Given the description of an element on the screen output the (x, y) to click on. 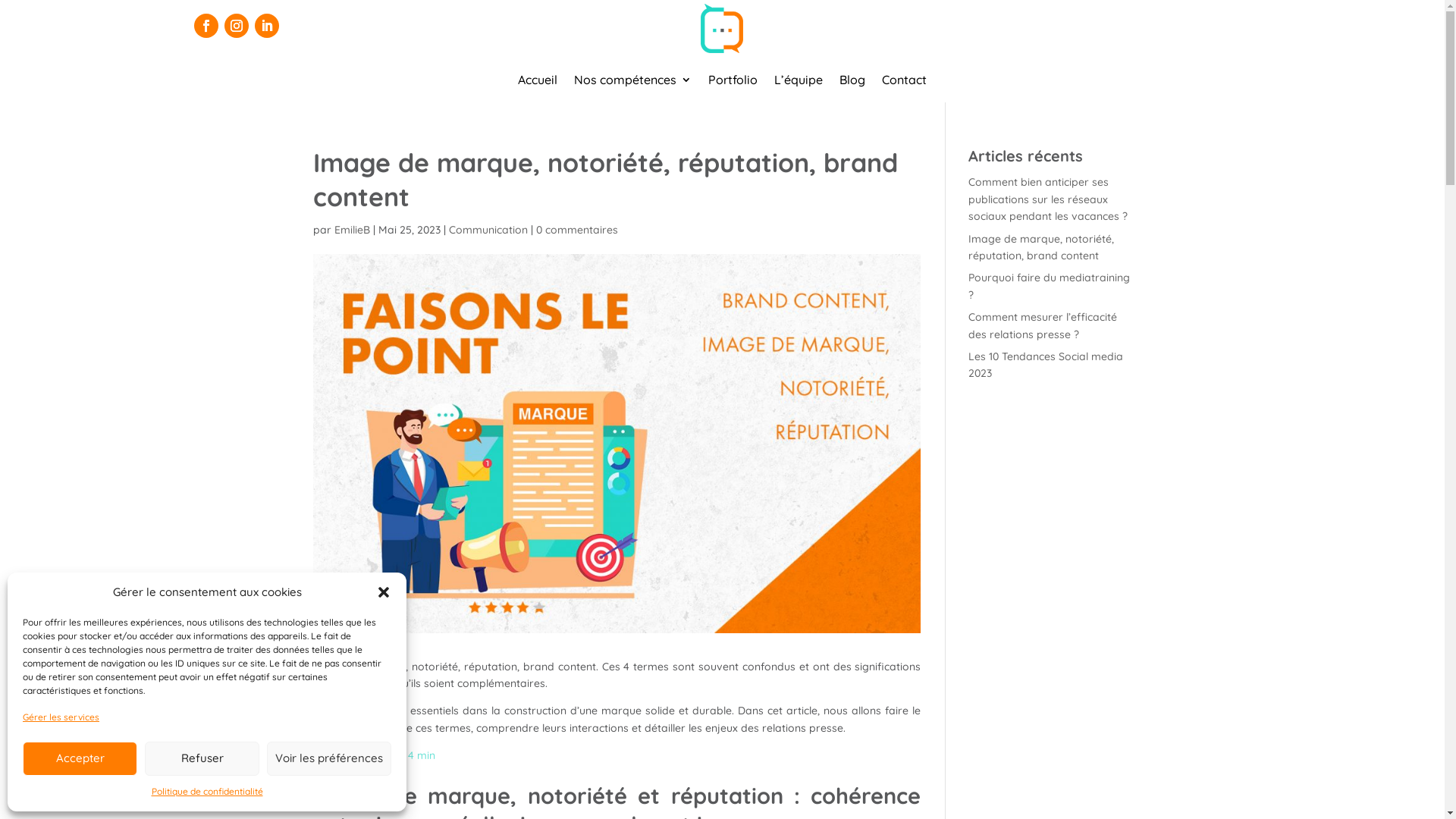
Accepter Element type: text (79, 758)
Accueil Element type: text (537, 82)
Contact Element type: text (903, 82)
EmilieB Element type: text (351, 229)
Suivez sur Facebook Element type: hover (206, 25)
logo 3COM 55px Element type: hover (721, 28)
Pourquoi faire du mediatraining ? Element type: text (1048, 285)
0 commentaires Element type: text (576, 229)
Refuser Element type: text (201, 758)
Blog Element type: text (852, 82)
Portfolio Element type: text (732, 82)
Les 10 Tendances Social media 2023 Element type: text (1045, 364)
Suivez sur Instagram Element type: hover (236, 25)
Communication Element type: text (487, 229)
Suivez sur LinkedIn Element type: hover (266, 25)
